Given the description of an element on the screen output the (x, y) to click on. 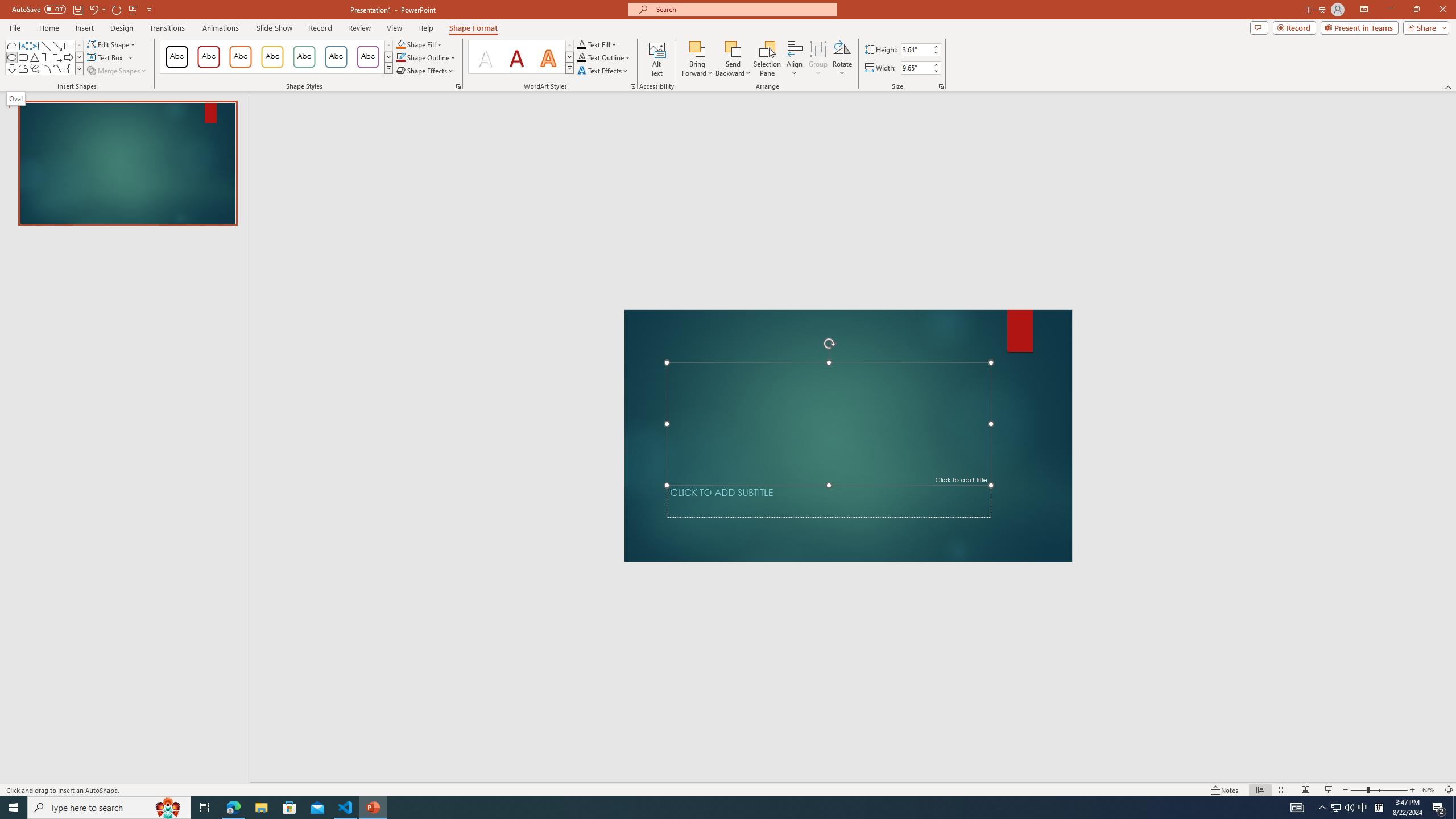
Bring Forward (697, 48)
Row Down (568, 56)
Line (46, 45)
Shape Height (915, 49)
Rectangle: Rounded Corners (23, 57)
AutomationID: ShapesInsertGallery (44, 57)
Size and Position... (941, 85)
